Given the description of an element on the screen output the (x, y) to click on. 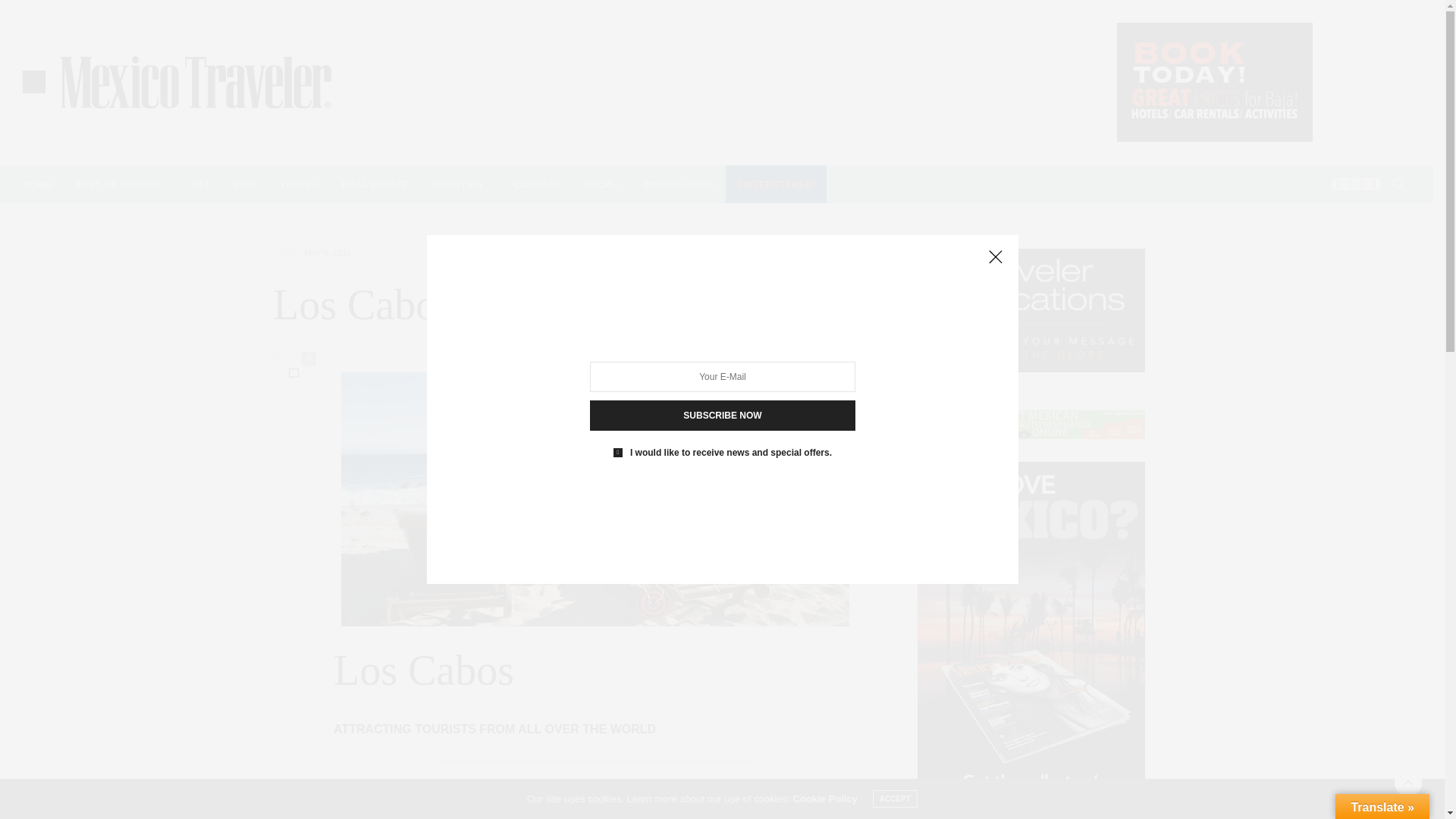
SUBSCRIBE NOW (722, 415)
